Given the description of an element on the screen output the (x, y) to click on. 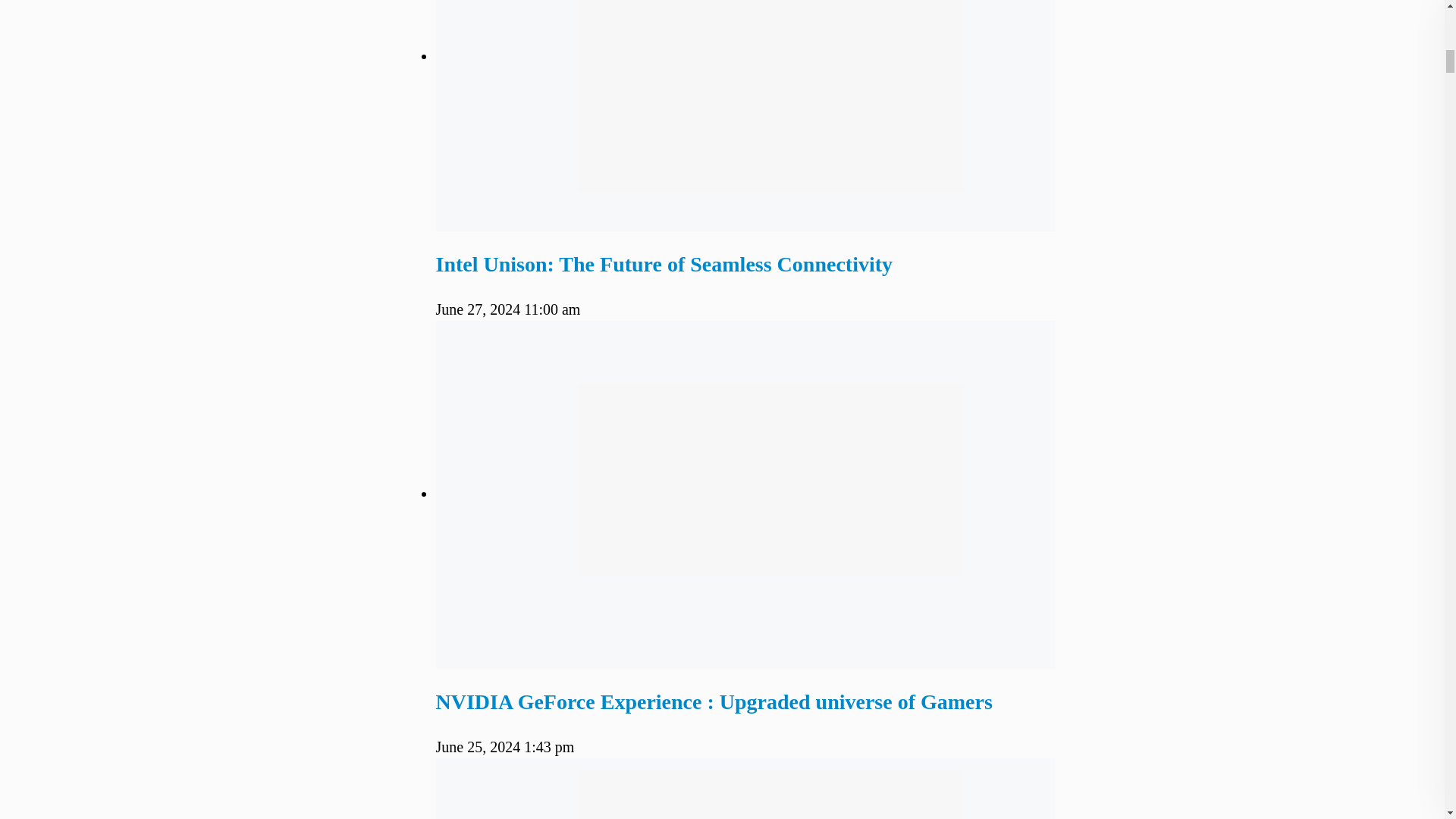
NVIDIA GeForce Experience : Upgraded universe of Gamers (713, 701)
NVIDIA GeForce Experience : Upgraded universe of Gamers (713, 701)
Intel Unison: The Future of Seamless Connectivity (663, 264)
Intel Unison: The Future of Seamless Connectivity (663, 264)
